Given the description of an element on the screen output the (x, y) to click on. 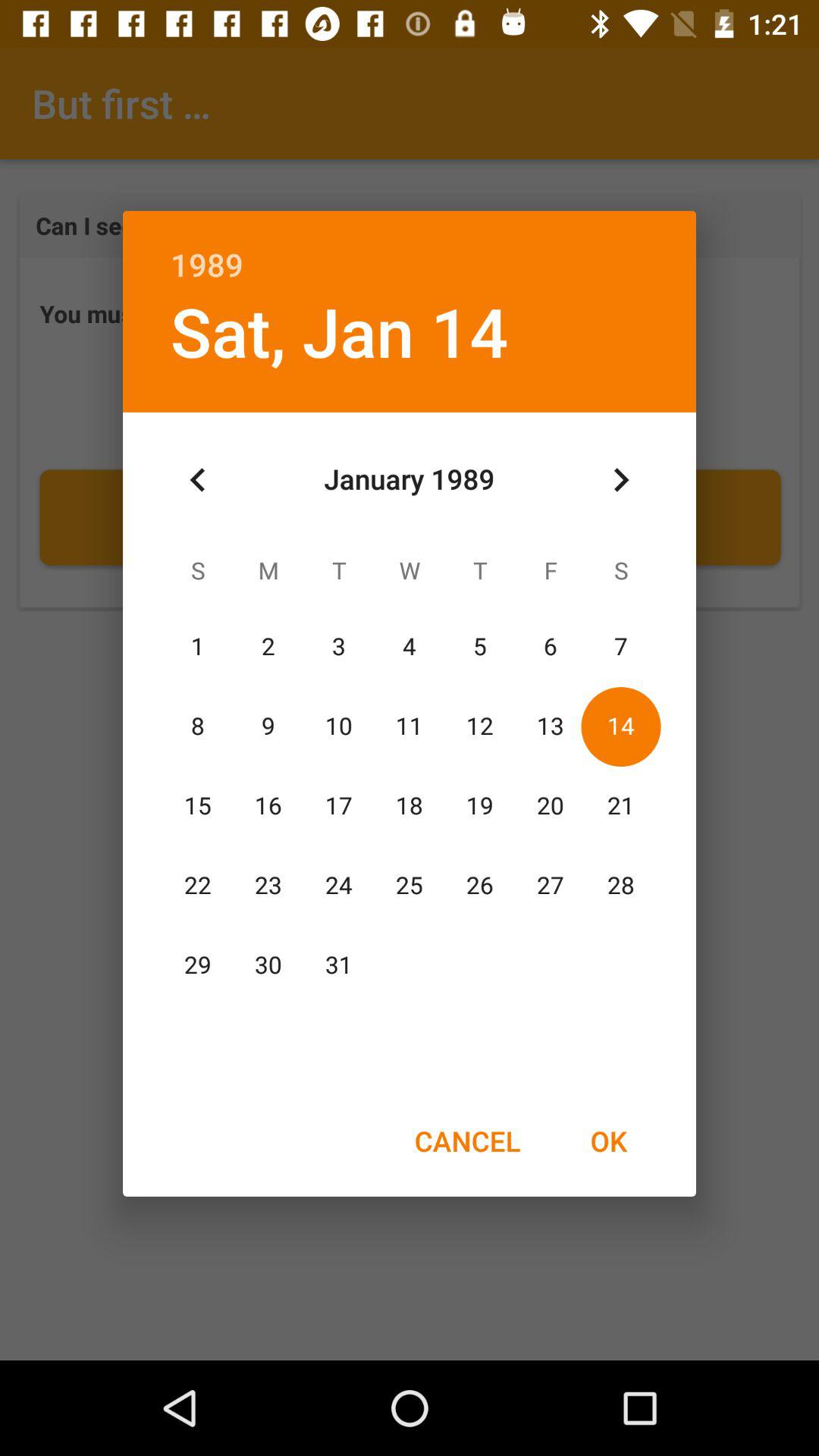
click ok icon (608, 1140)
